Given the description of an element on the screen output the (x, y) to click on. 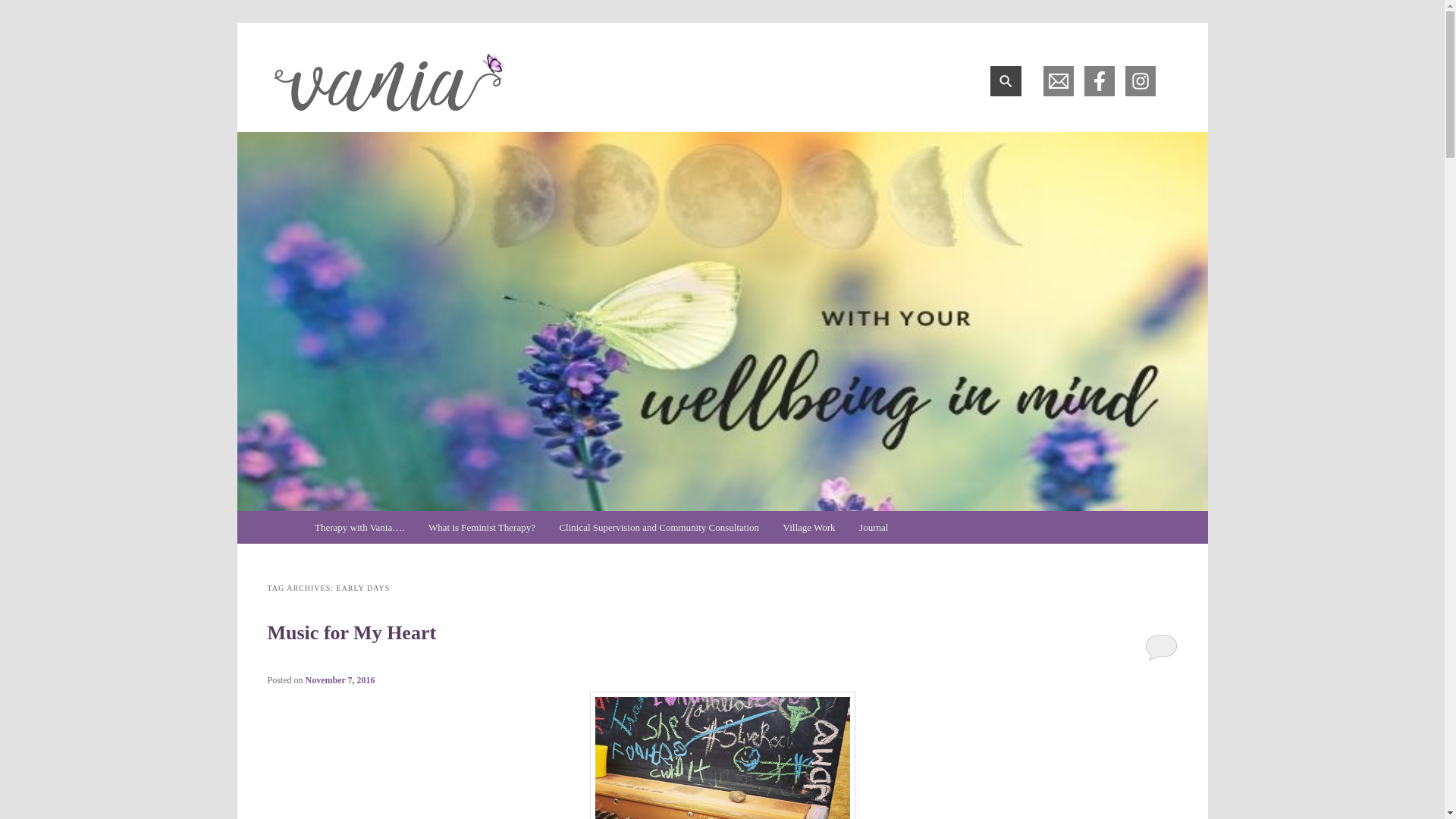
Clinical Supervision and Community Consultation (659, 527)
9:28 AM (340, 679)
November 7, 2016 (340, 679)
Village Work (809, 527)
Music for My Heart (350, 632)
What is Feminist Therapy? (481, 527)
Journal (873, 527)
